Given the description of an element on the screen output the (x, y) to click on. 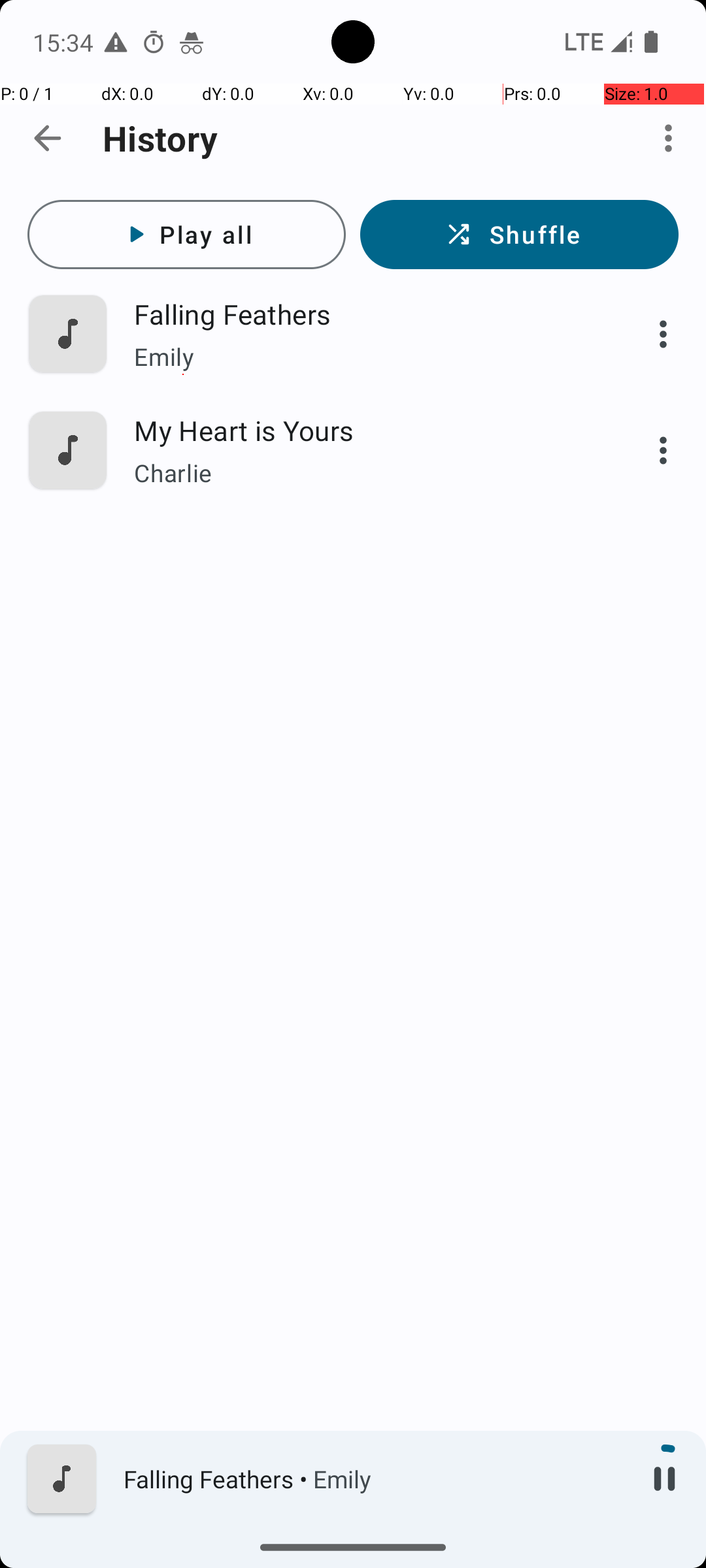
Falling Feathers • Emily Element type: android.widget.TextView (372, 1478)
Play all Element type: android.widget.Button (186, 234)
Falling Feathers Element type: android.widget.TextView (363, 313)
Emily Element type: android.widget.TextView (363, 356)
My Heart is Yours Element type: android.widget.TextView (363, 429)
Charlie Element type: android.widget.TextView (363, 472)
